Given the description of an element on the screen output the (x, y) to click on. 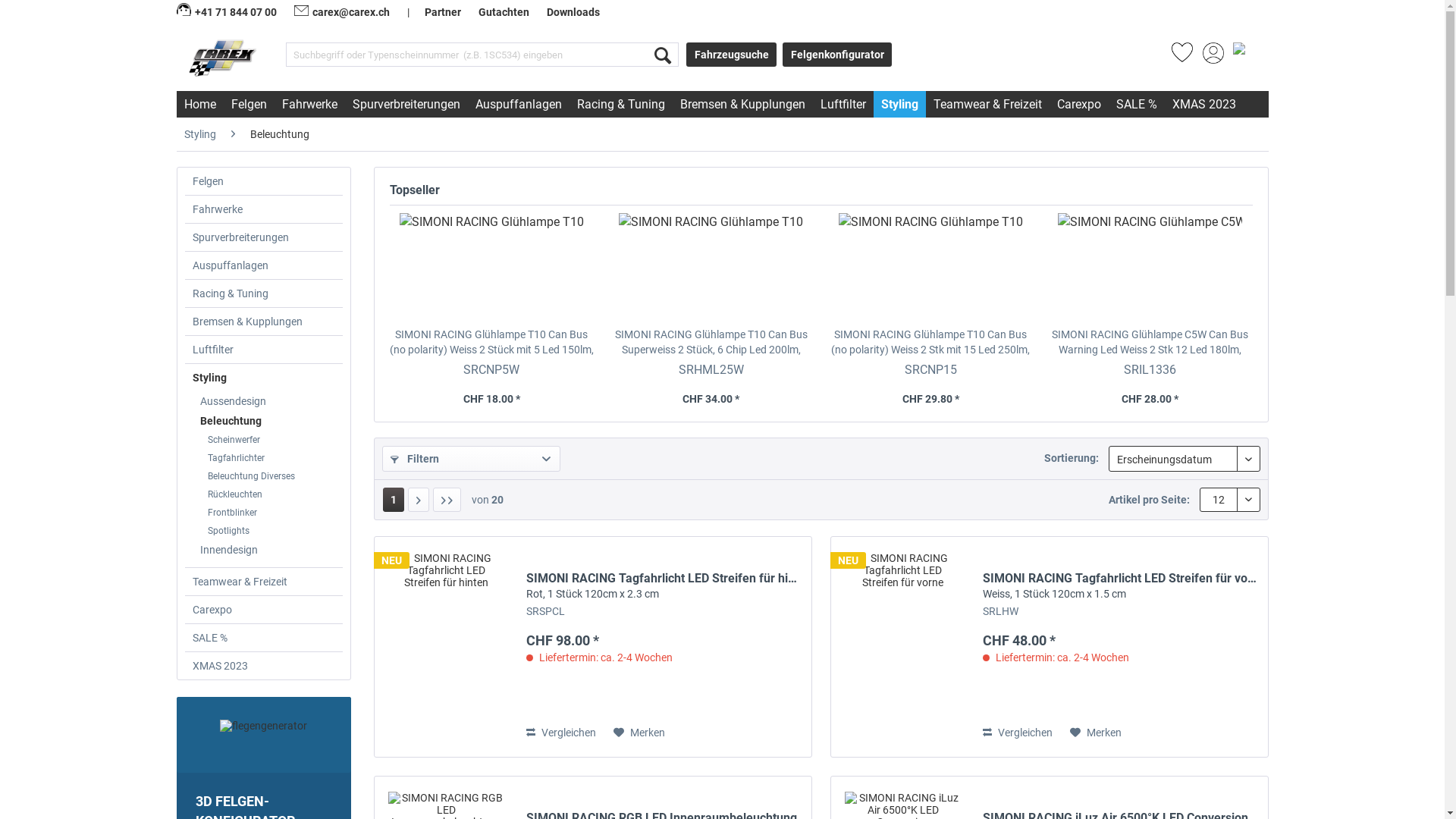
Downloads Element type: text (572, 12)
Styling Element type: text (899, 104)
Felgen Element type: text (247, 104)
Luftfilter Element type: text (842, 104)
Vergleichen Element type: text (1017, 732)
Home Element type: text (198, 104)
Partner Element type: text (442, 12)
Warenkorb Element type: hover (1243, 57)
Auspuffanlagen Element type: text (517, 104)
Fahrwerke Element type: text (263, 208)
Scheinwerfer Element type: text (271, 439)
Styling Element type: text (263, 377)
Auspuffanlagen Element type: text (263, 265)
Spurverbreiterungen Element type: text (405, 104)
Frontblinker Element type: text (271, 512)
Teamwear & Freizeit Element type: text (986, 104)
Bremsen & Kupplungen Element type: text (741, 104)
Vergleichen Element type: text (561, 732)
Mein Konto Element type: hover (1212, 57)
Merken Element type: text (639, 732)
Carexpo Element type: text (1078, 104)
XMAS 2023 Element type: text (263, 665)
Beleuchtung Diverses Element type: text (271, 476)
Styling Element type: text (198, 133)
Spurverbreiterungen Element type: text (263, 237)
Tagfahrlichter Element type: text (271, 457)
Beleuchtung Element type: text (267, 420)
Beleuchtung Element type: text (279, 133)
Merken Element type: text (1095, 732)
Felgenkonfigurator Element type: text (836, 54)
Racing & Tuning Element type: text (619, 104)
Filtern Element type: text (471, 458)
+41 71 844 07 00 Element type: text (226, 12)
Carexpo Element type: text (263, 609)
Fahrzeugsuche Element type: text (731, 54)
SALE % Element type: text (1136, 104)
Gutachten Element type: text (502, 12)
XMAS 2023 Element type: text (1203, 104)
Racing & Tuning Element type: text (263, 293)
Spotlights Element type: text (271, 530)
Merkzettel Element type: hover (1181, 57)
carex@carex.ch Element type: text (341, 12)
Letzte Seite Element type: hover (446, 499)
Fahrwerke Element type: text (309, 104)
Teamwear & Freizeit Element type: text (263, 581)
Felgen Element type: text (263, 180)
1 Element type: text (392, 499)
Aussendesign Element type: text (267, 401)
Luftfilter Element type: text (263, 349)
SALE % Element type: text (263, 637)
Bremsen & Kupplungen Element type: text (263, 321)
Innendesign Element type: text (267, 549)
